Given the description of an element on the screen output the (x, y) to click on. 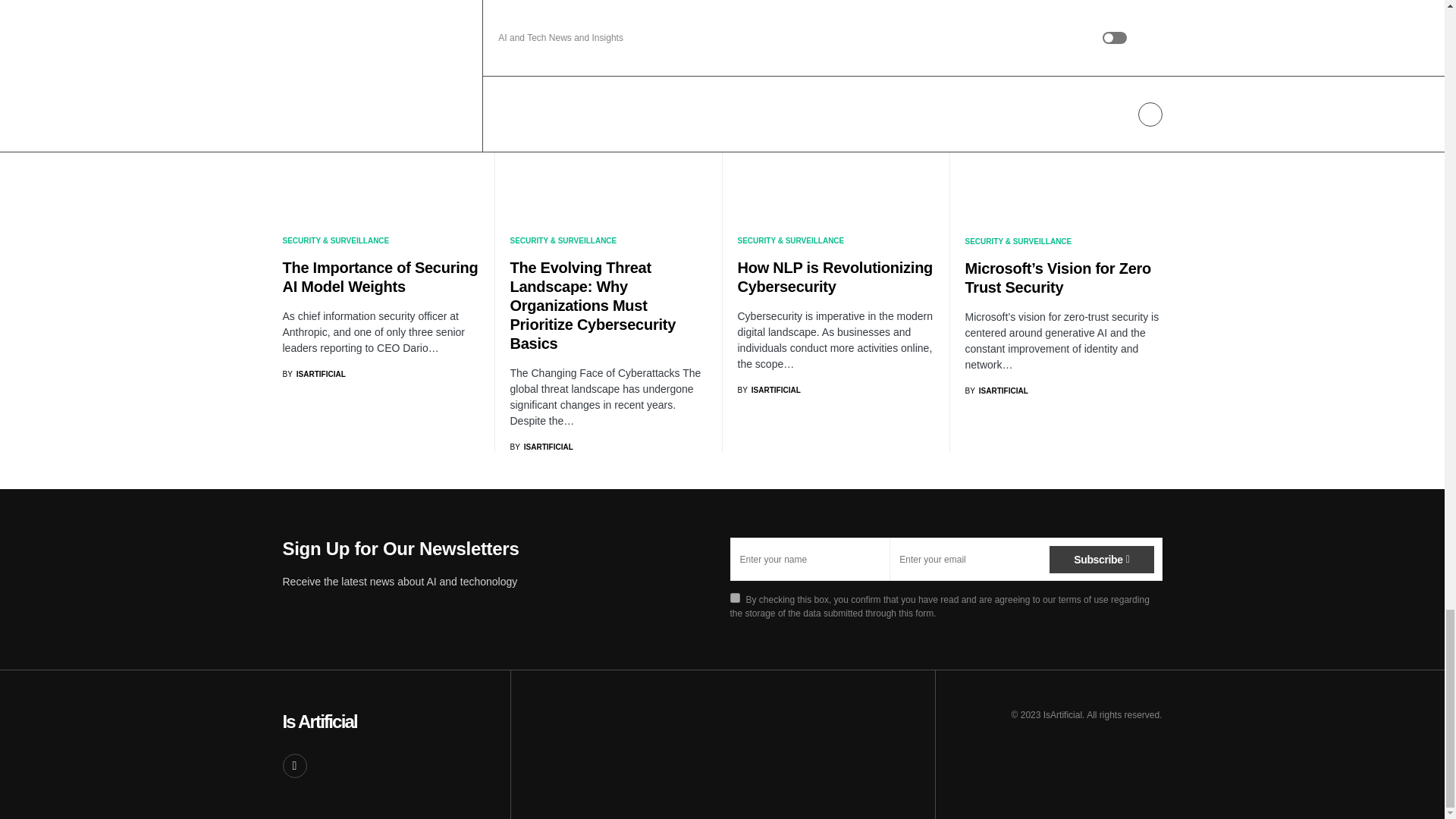
View all posts by IsArtificial (313, 374)
View all posts by IsArtificial (995, 390)
View all posts by IsArtificial (767, 389)
View all posts by IsArtificial (540, 446)
on (734, 597)
